Given the description of an element on the screen output the (x, y) to click on. 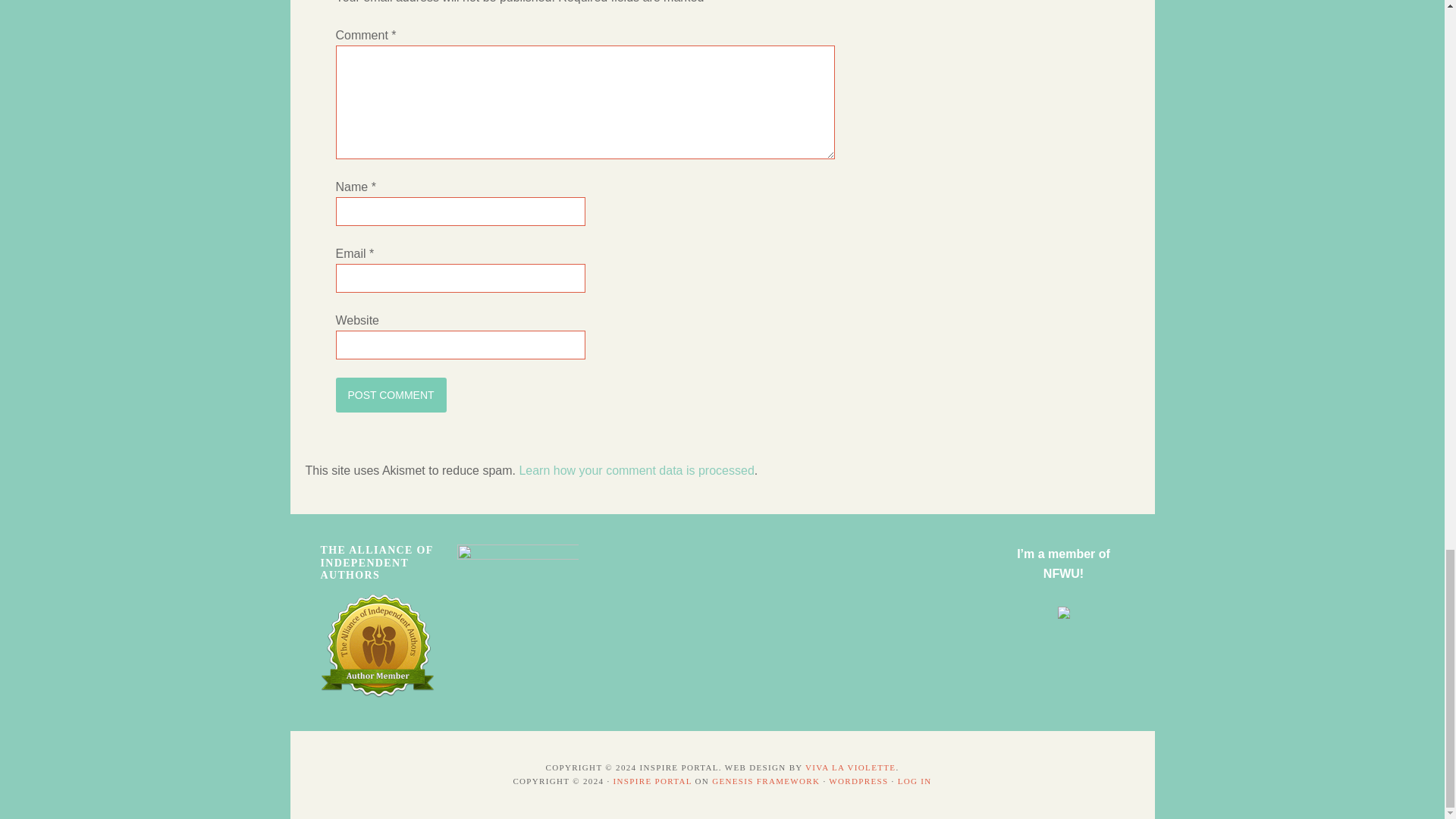
Post Comment (389, 394)
Elevate Your Storytelling (517, 554)
